Given the description of an element on the screen output the (x, y) to click on. 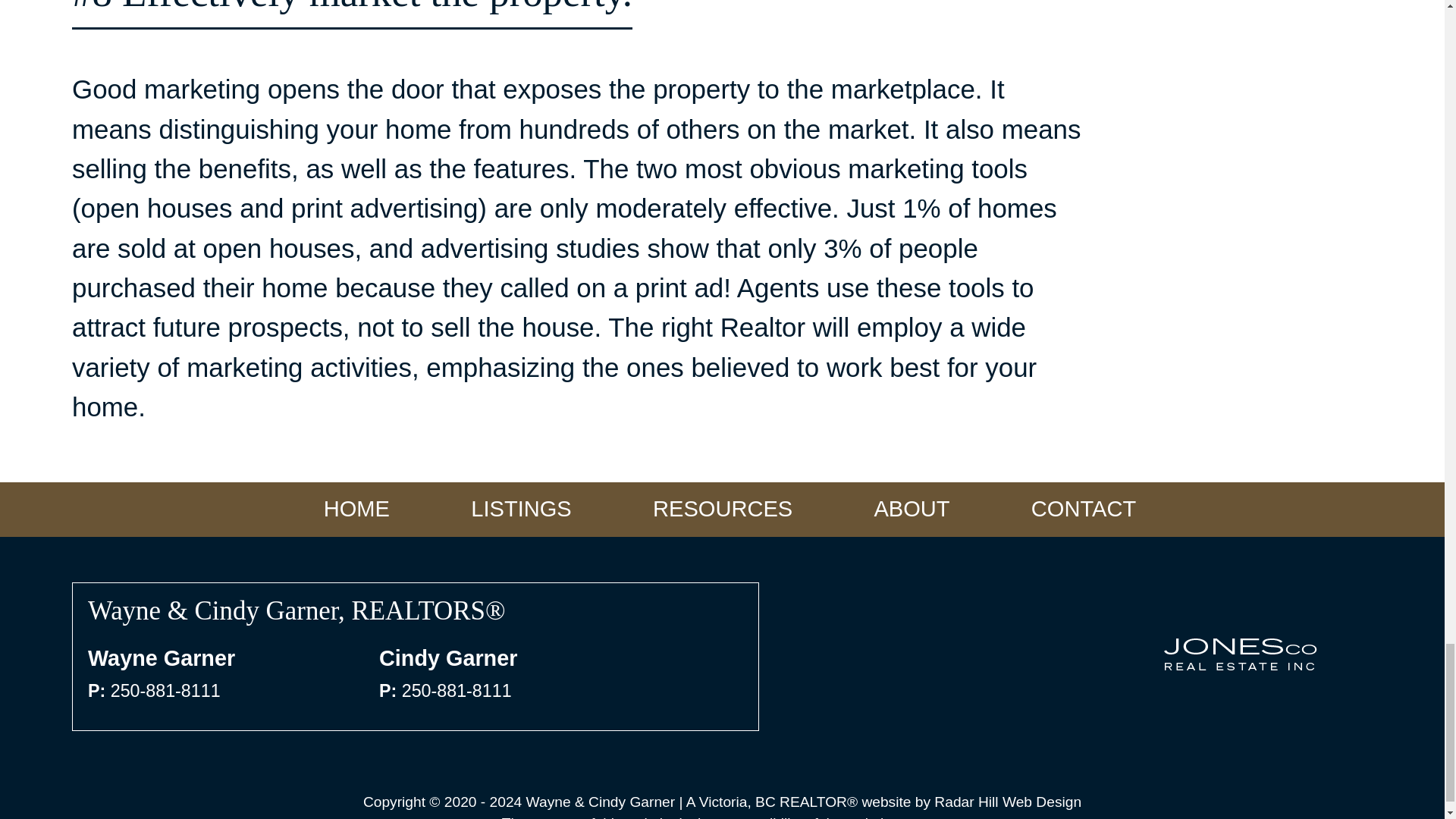
RESOURCES (722, 509)
250-881-8111 (456, 690)
LISTINGS (521, 509)
CONTACT (1083, 509)
HOME (356, 509)
ABOUT (911, 509)
250-881-8111 (165, 690)
